Given the description of an element on the screen output the (x, y) to click on. 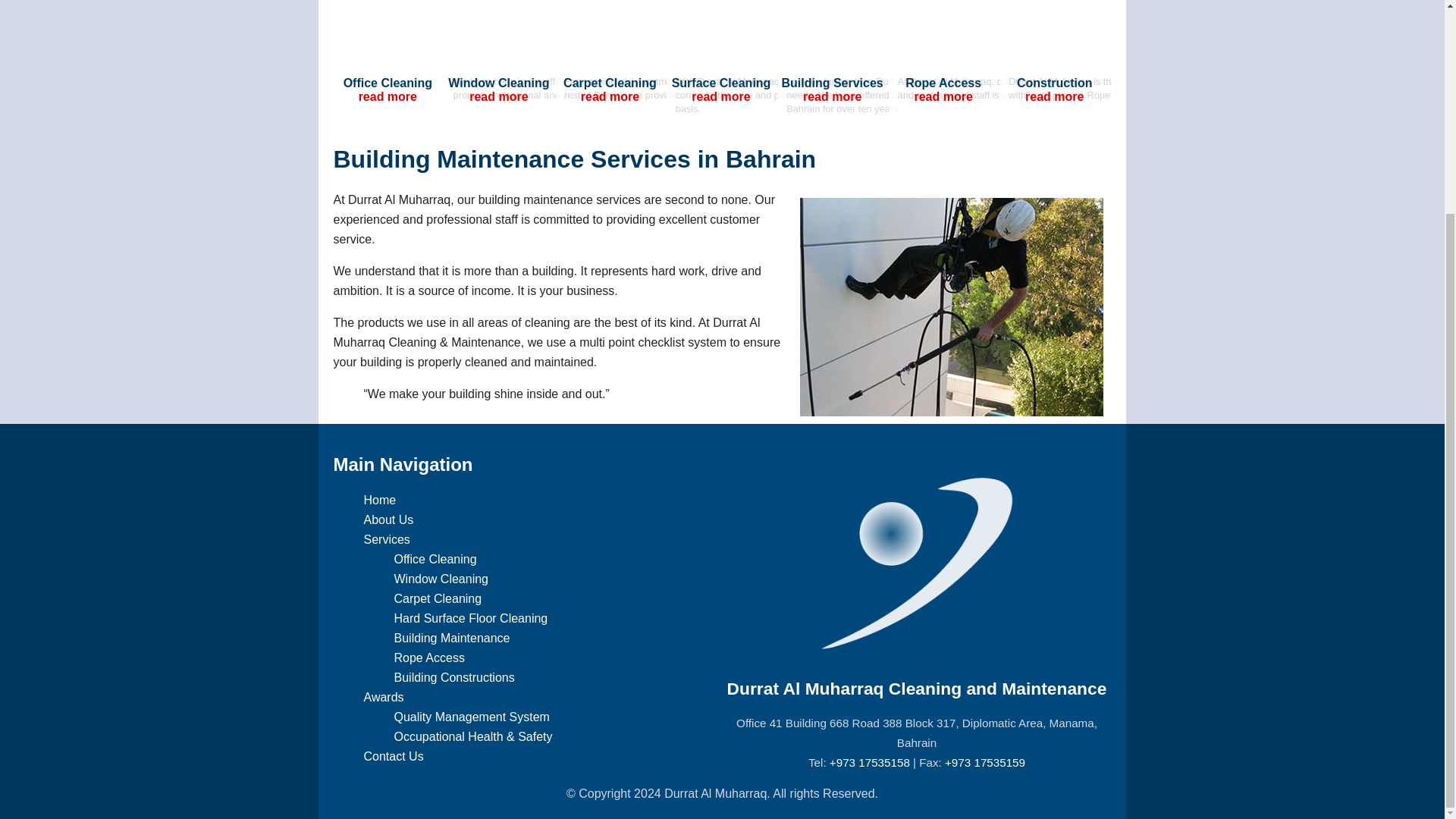
Building Maintenance (452, 637)
Building Constructions (454, 676)
Office Cleaning (435, 558)
Quality Management System (472, 716)
read more (943, 96)
Awards (384, 697)
read more (832, 96)
Services (387, 539)
About Us (388, 519)
Rope Access (429, 657)
